Given the description of an element on the screen output the (x, y) to click on. 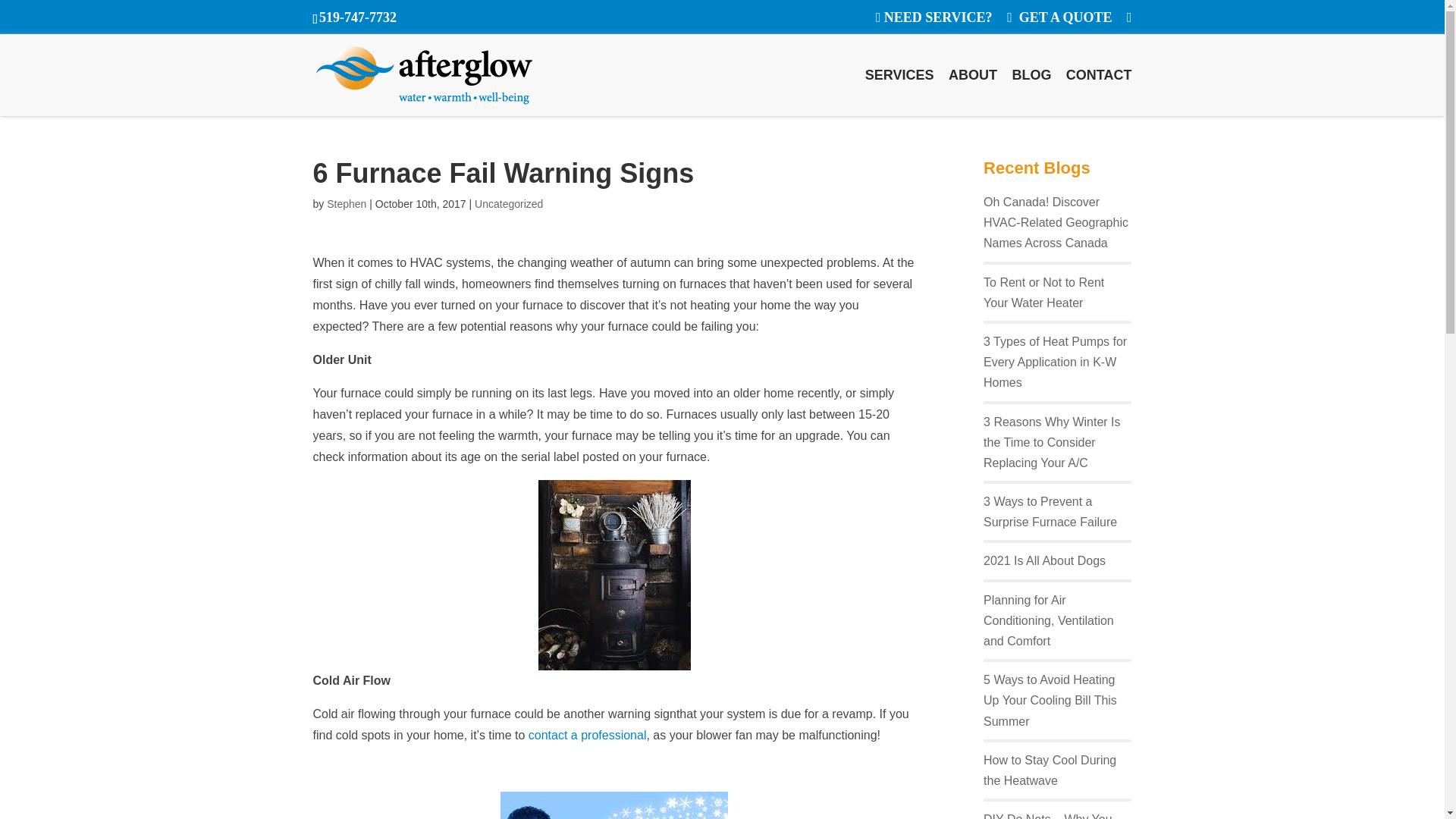
Stephen (346, 203)
CONTACT (1098, 91)
3 Types of Heat Pumps for Every Application in K-W Homes (1055, 361)
contact a professional (587, 734)
To Rent or Not to Rent Your Water Heater (1043, 292)
Uncategorized (508, 203)
3 Ways to Prevent a Surprise Furnace Failure (1050, 511)
ABOUT (973, 91)
SERVICES (899, 91)
